Given the description of an element on the screen output the (x, y) to click on. 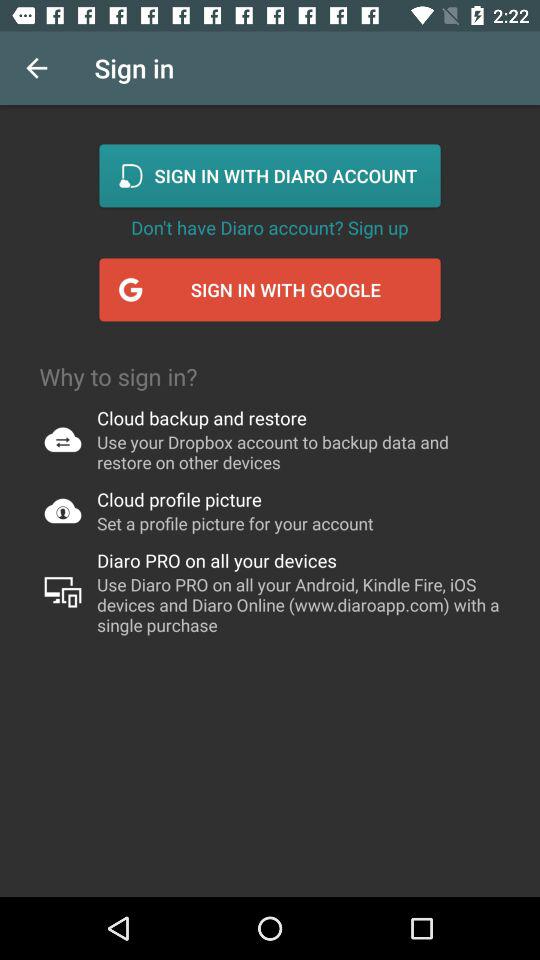
launch the icon below the sign in with (269, 227)
